Given the description of an element on the screen output the (x, y) to click on. 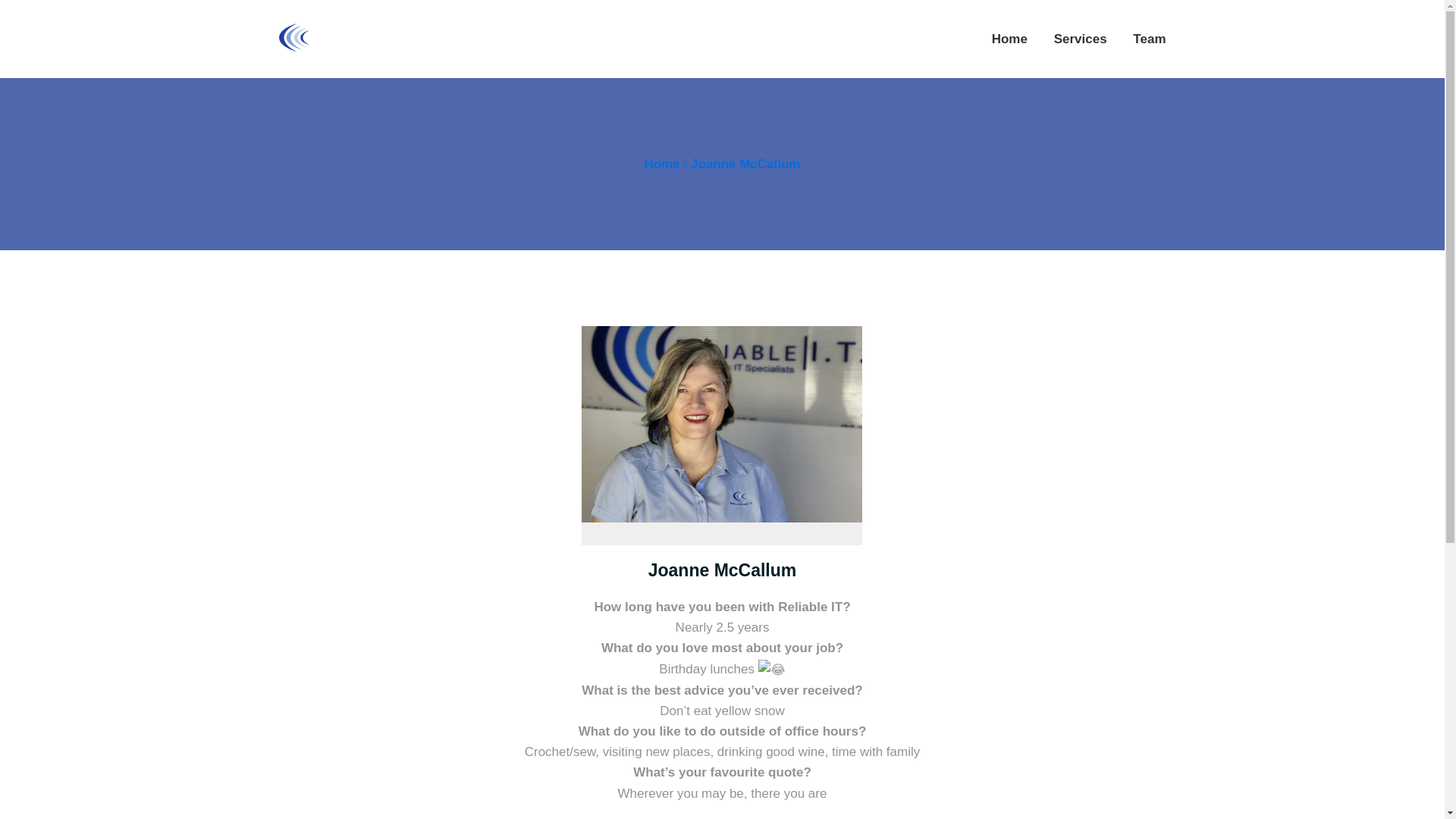
Home (1009, 38)
Team (1149, 38)
Reliable I.T. (381, 36)
Home (662, 164)
Services (1080, 38)
